Given the description of an element on the screen output the (x, y) to click on. 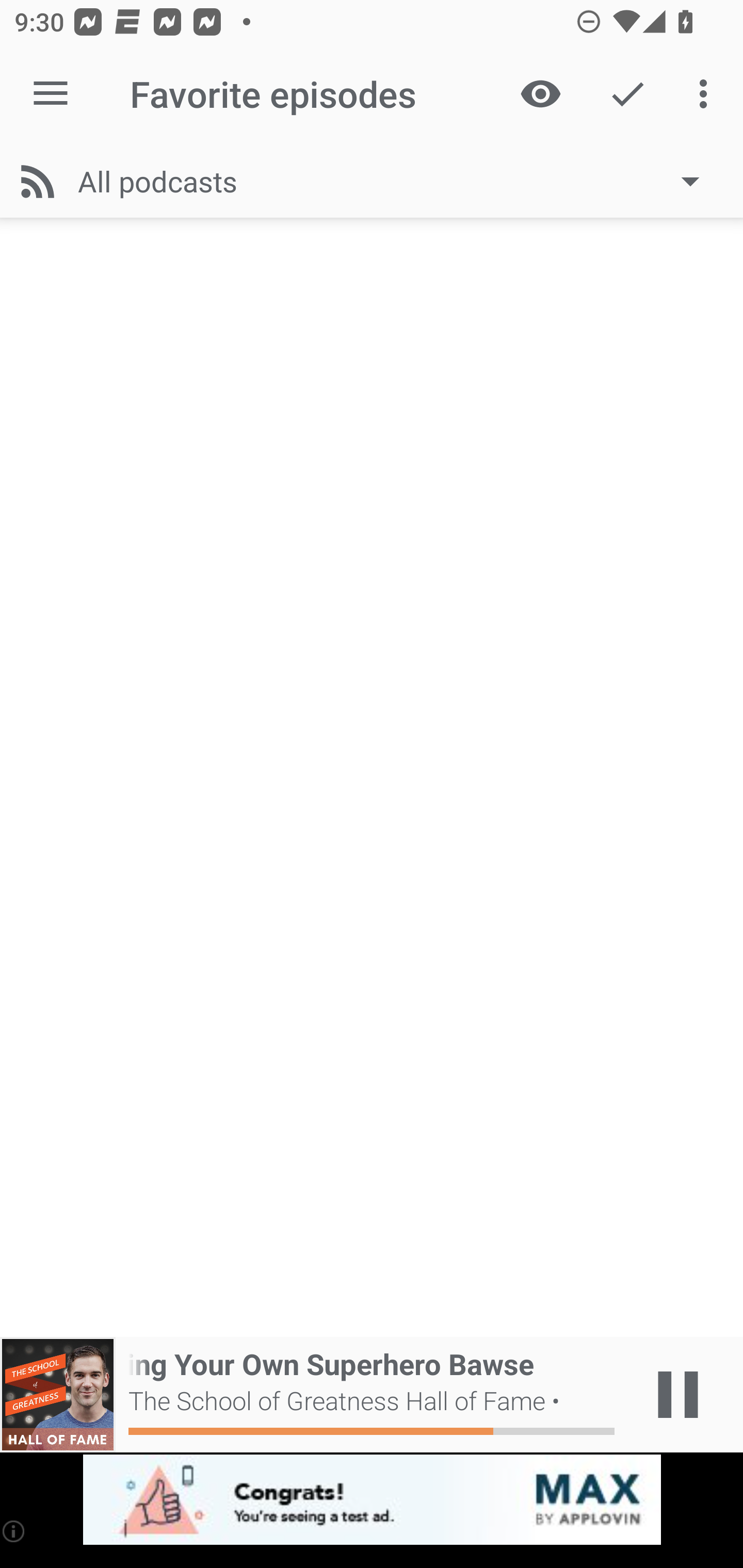
Open navigation sidebar (50, 93)
Show / Hide played content (540, 93)
Action Mode (626, 93)
More options (706, 93)
All podcasts (398, 180)
Play / Pause (677, 1394)
app-monetization (371, 1500)
(i) (14, 1531)
